Given the description of an element on the screen output the (x, y) to click on. 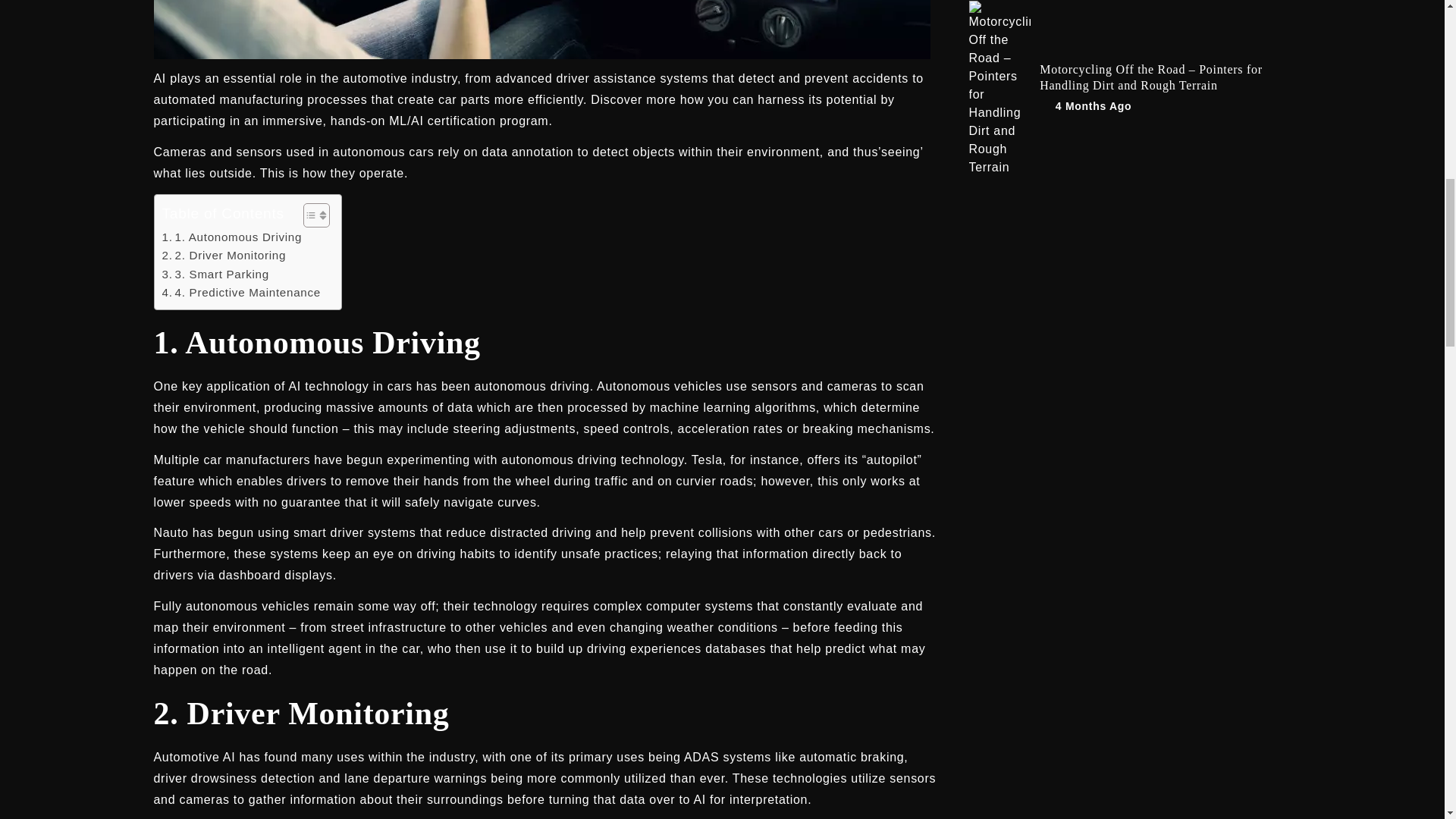
1. Autonomous Driving (231, 237)
2. Driver Monitoring (223, 255)
2. Driver Monitoring (223, 255)
4. Predictive Maintenance (240, 292)
3. Smart Parking (215, 274)
4. Predictive Maintenance (240, 292)
3. Smart Parking (215, 274)
1. Autonomous Driving (231, 237)
